Given the description of an element on the screen output the (x, y) to click on. 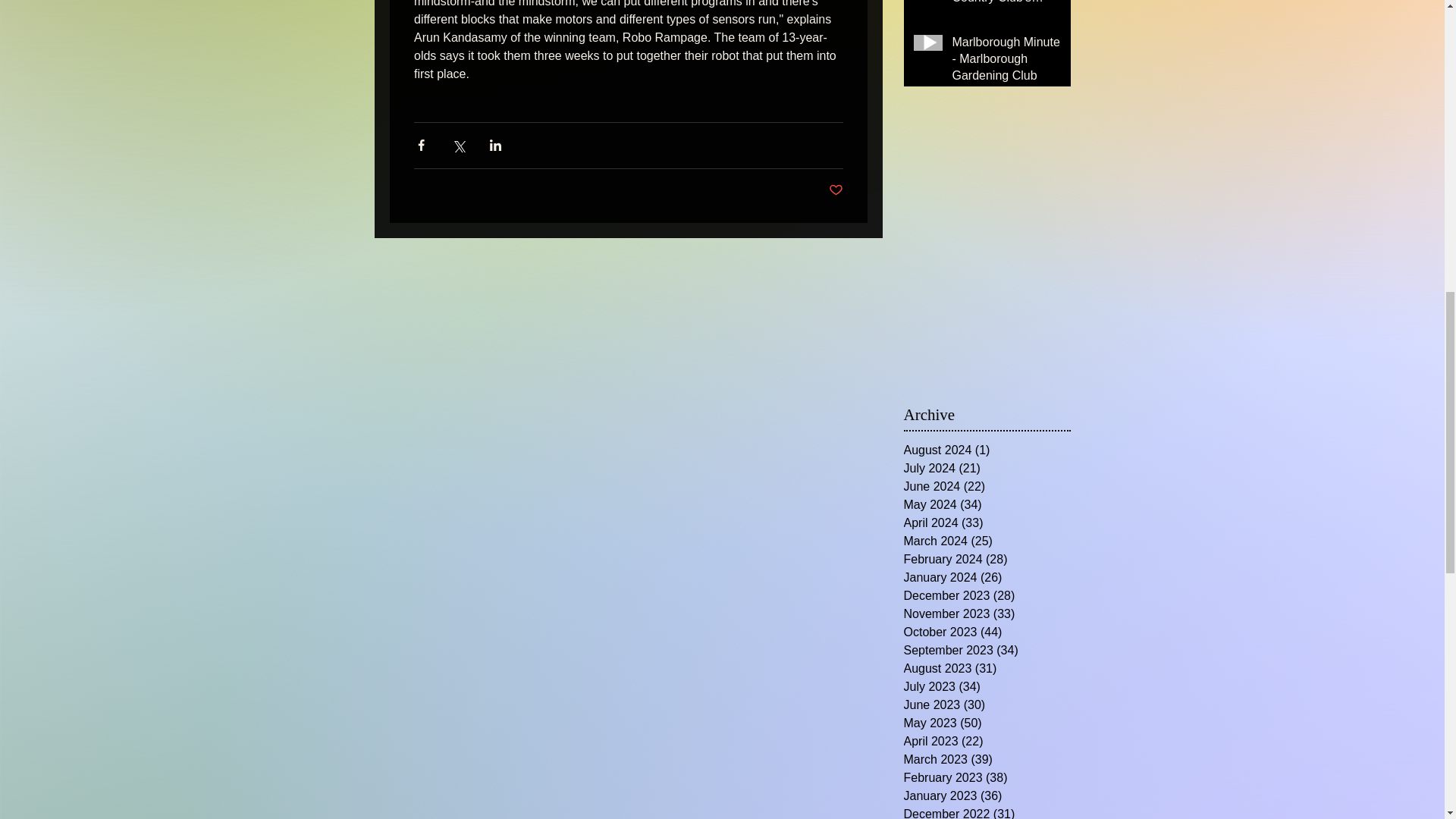
Marlborough Minute - Marlborough Gardening Club (1006, 62)
Post not marked as liked (835, 190)
